Given the description of an element on the screen output the (x, y) to click on. 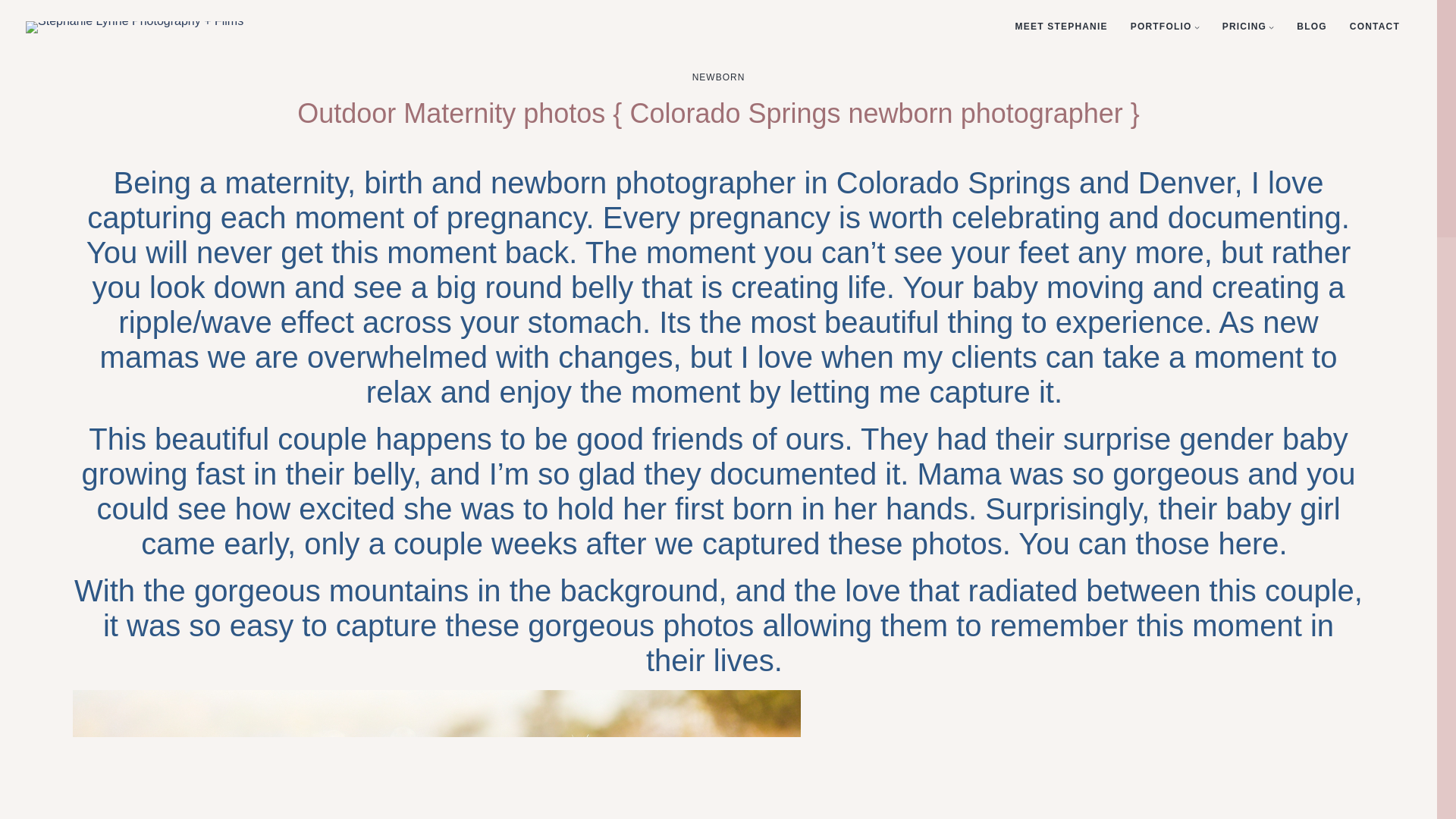
PRICING (1244, 27)
BLOG (1311, 27)
here (1247, 543)
CONTACT (1374, 27)
NEWBORN (719, 77)
MEET STEPHANIE (1061, 27)
PORTFOLIO (1161, 27)
